Given the description of an element on the screen output the (x, y) to click on. 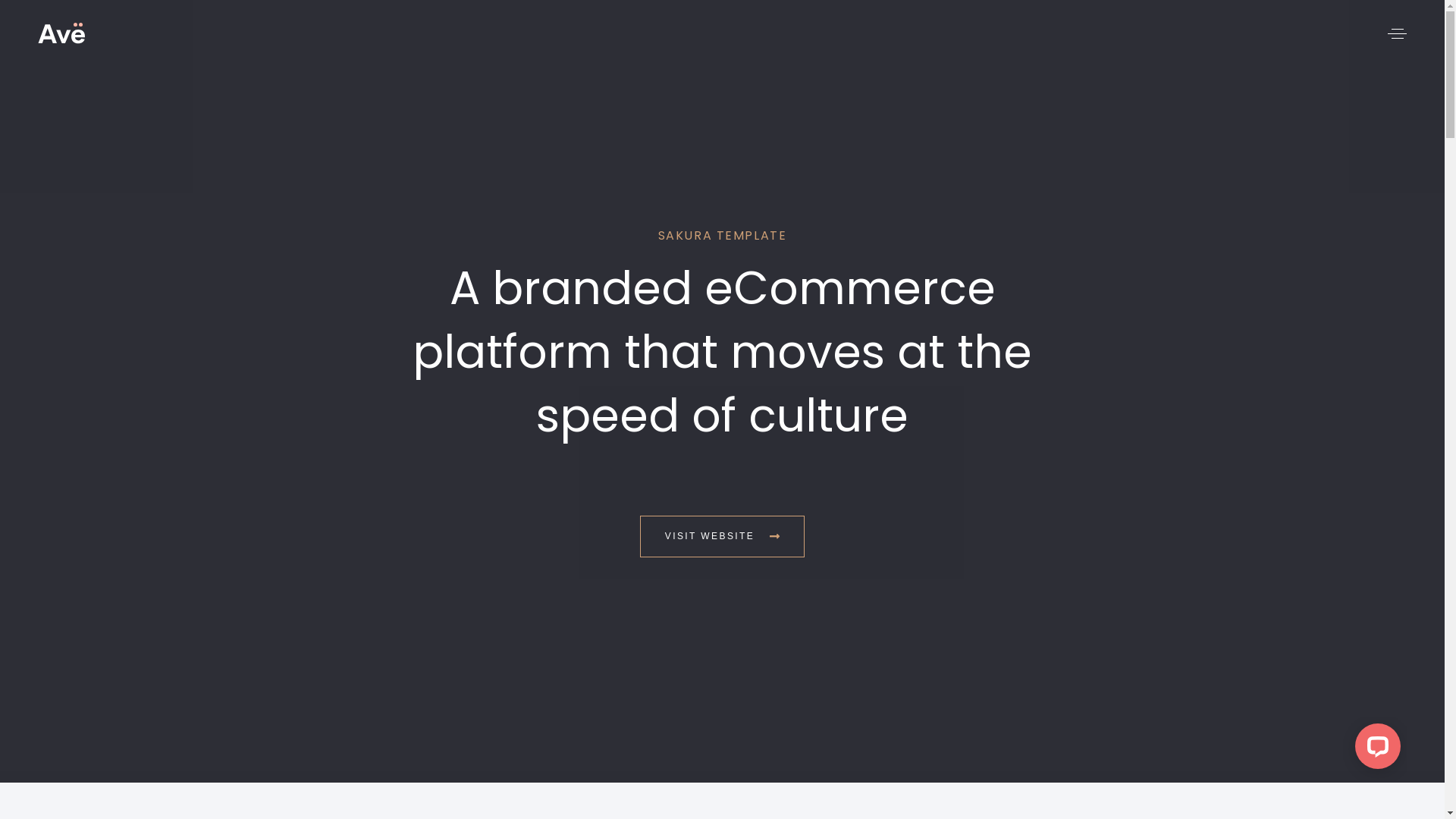
LiveChat chat widget Element type: hover (1374, 749)
VISIT WEBSITE Element type: text (722, 536)
